Given the description of an element on the screen output the (x, y) to click on. 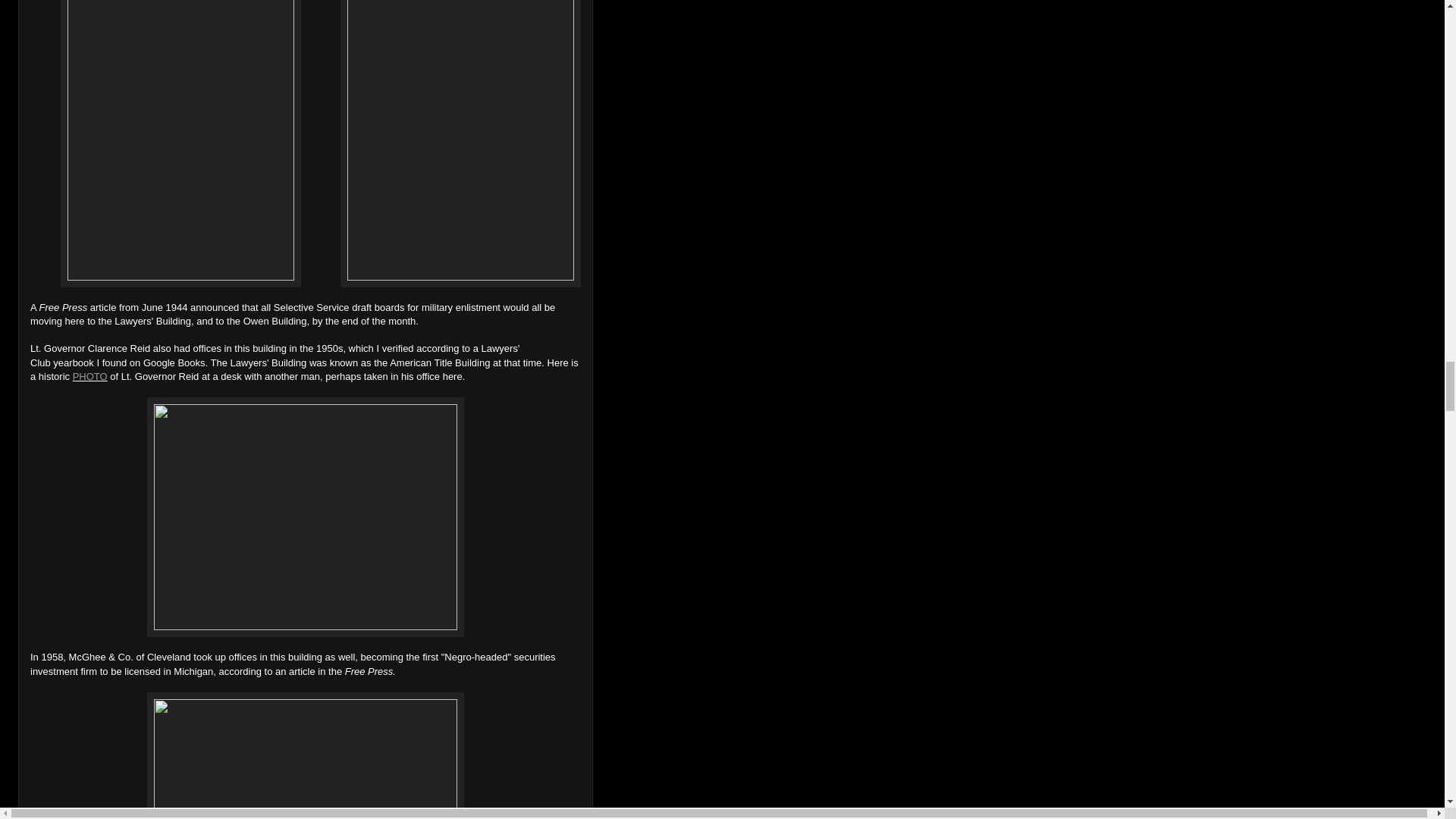
PHOTO (89, 376)
